Given the description of an element on the screen output the (x, y) to click on. 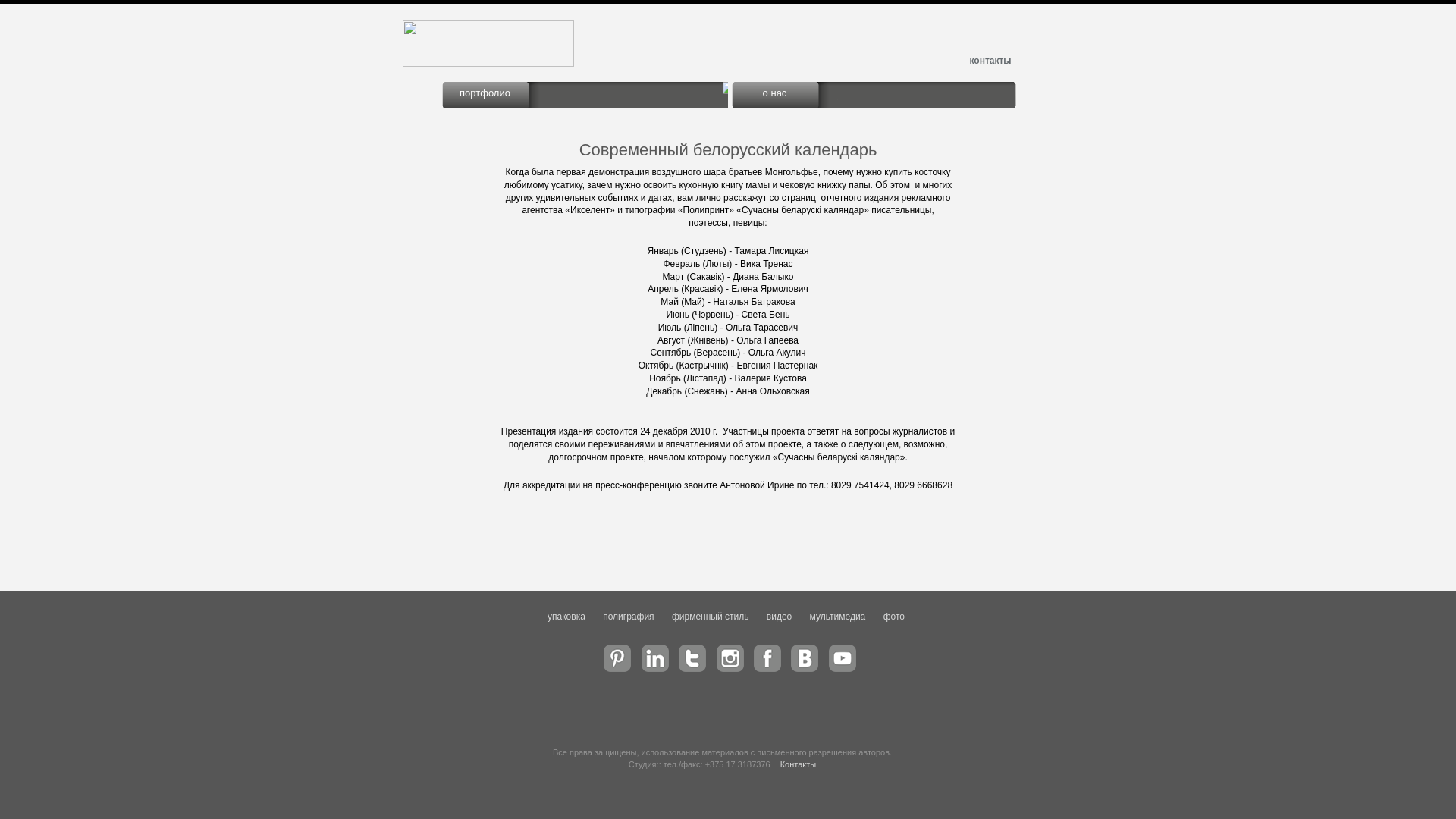
Excellent Design Element type: hover (487, 63)
